Given the description of an element on the screen output the (x, y) to click on. 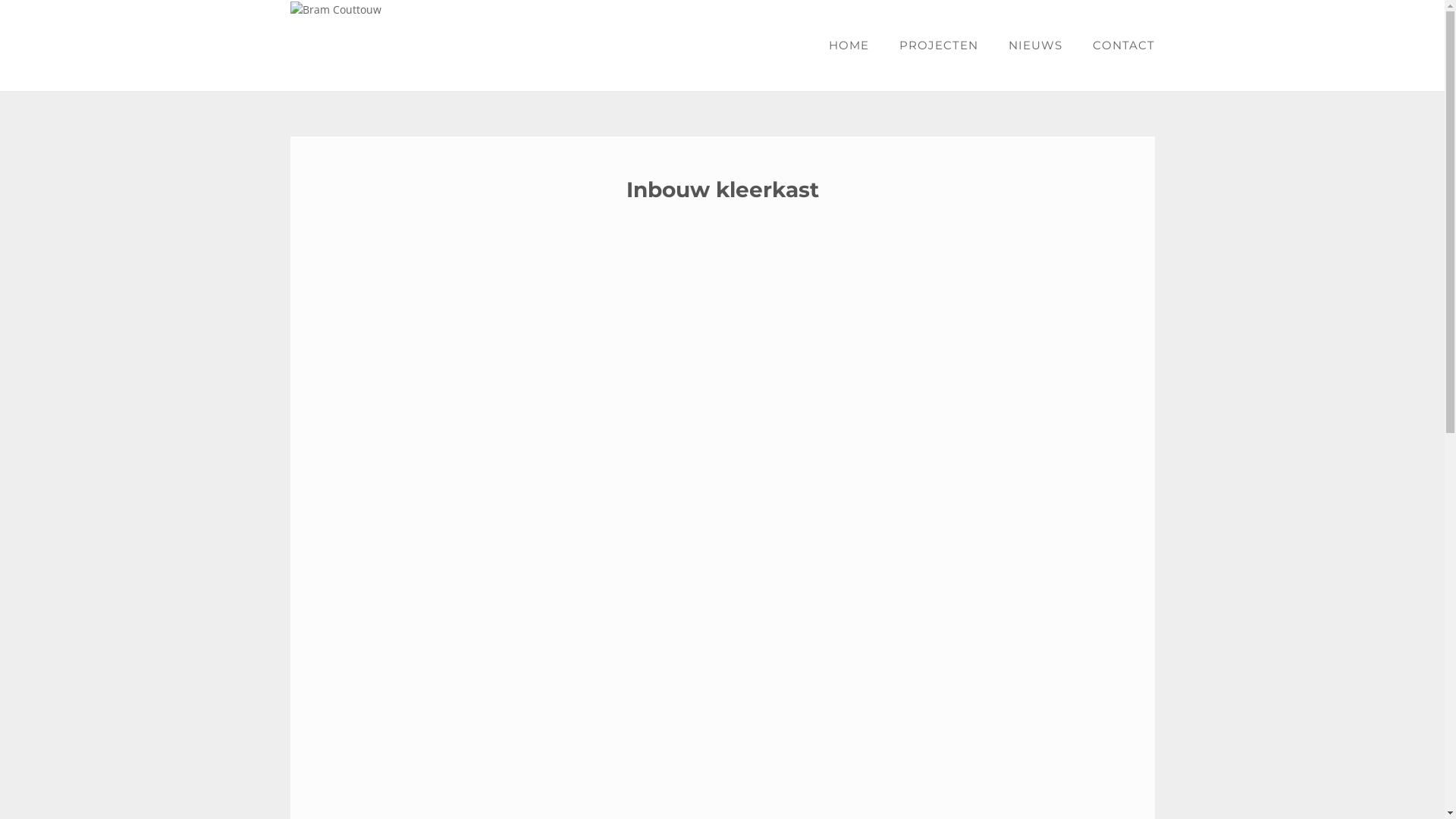
HOME Element type: text (847, 45)
NIEUWS Element type: text (1035, 45)
CONTACT Element type: text (1115, 45)
PROJECTEN Element type: text (938, 45)
